Given the description of an element on the screen output the (x, y) to click on. 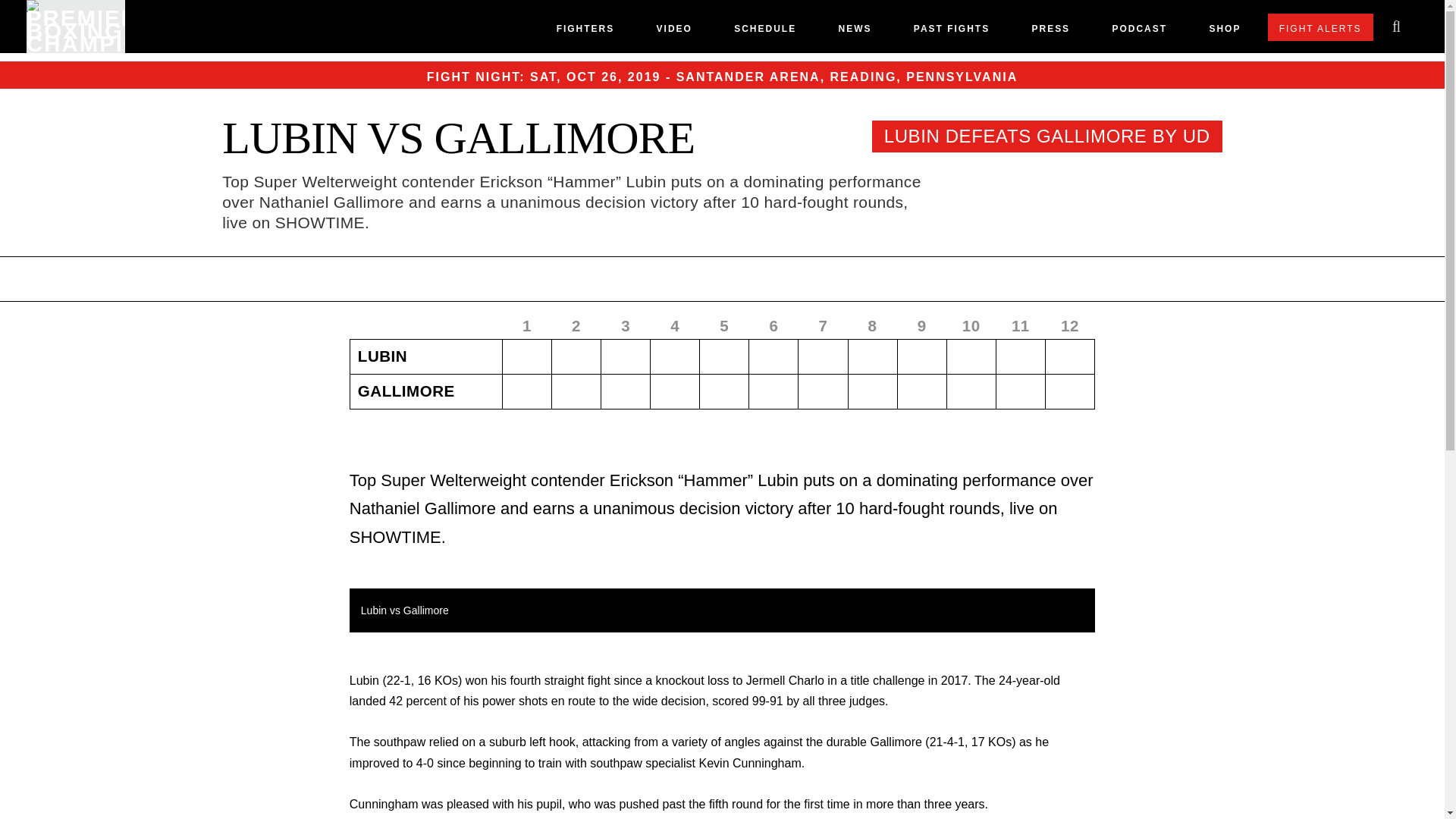
SHOP (1224, 31)
October (581, 76)
FIGHTERS (585, 31)
VIDEO (674, 31)
FIGHT ALERTS (1320, 27)
PRESS (1050, 31)
SCHEDULE (764, 31)
Saturday (542, 76)
LUBIN (289, 137)
